Given the description of an element on the screen output the (x, y) to click on. 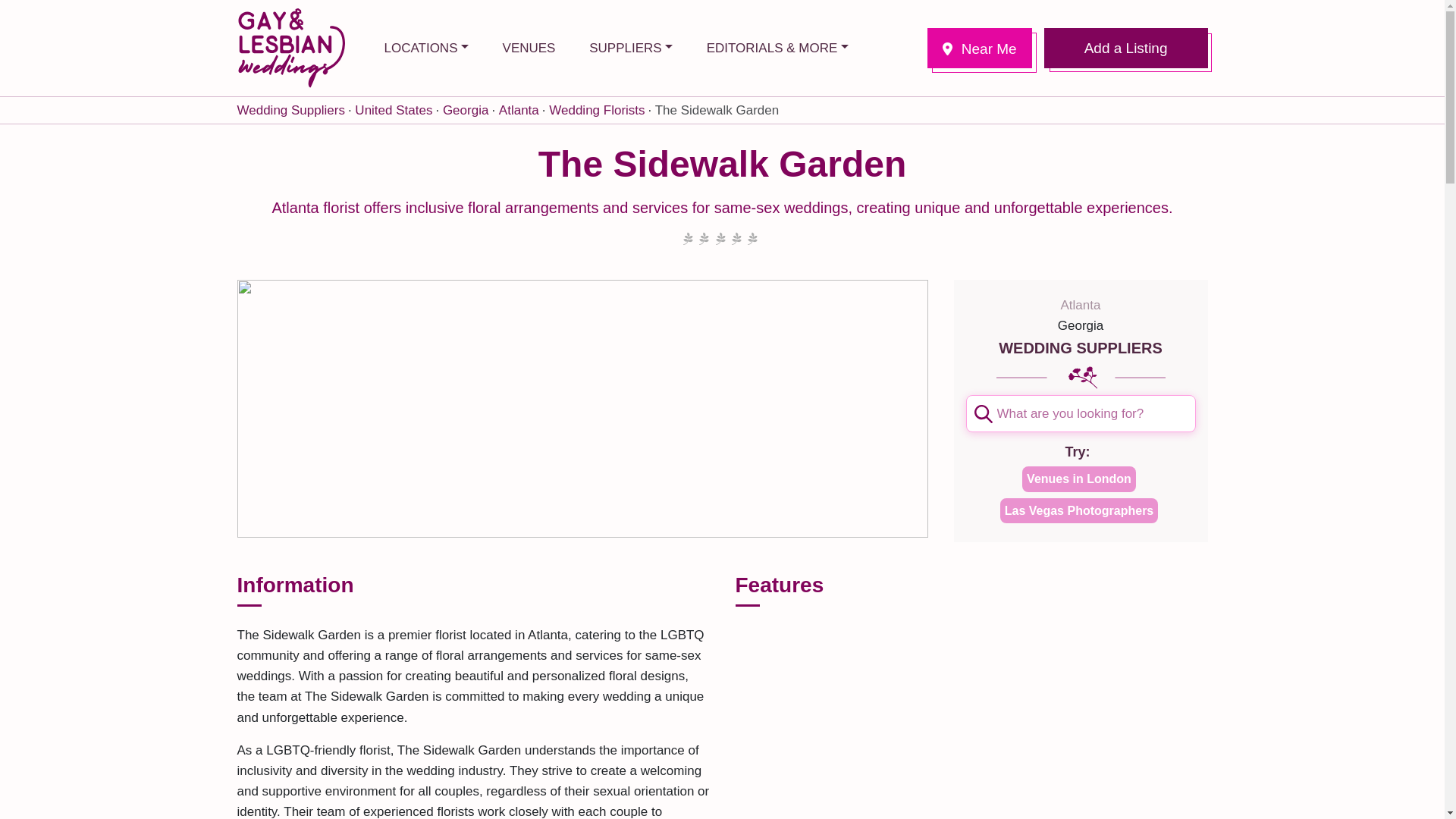
LOCATIONS (425, 47)
Gay and Lesbian Weddings (289, 46)
No rating yet! (719, 239)
